Given the description of an element on the screen output the (x, y) to click on. 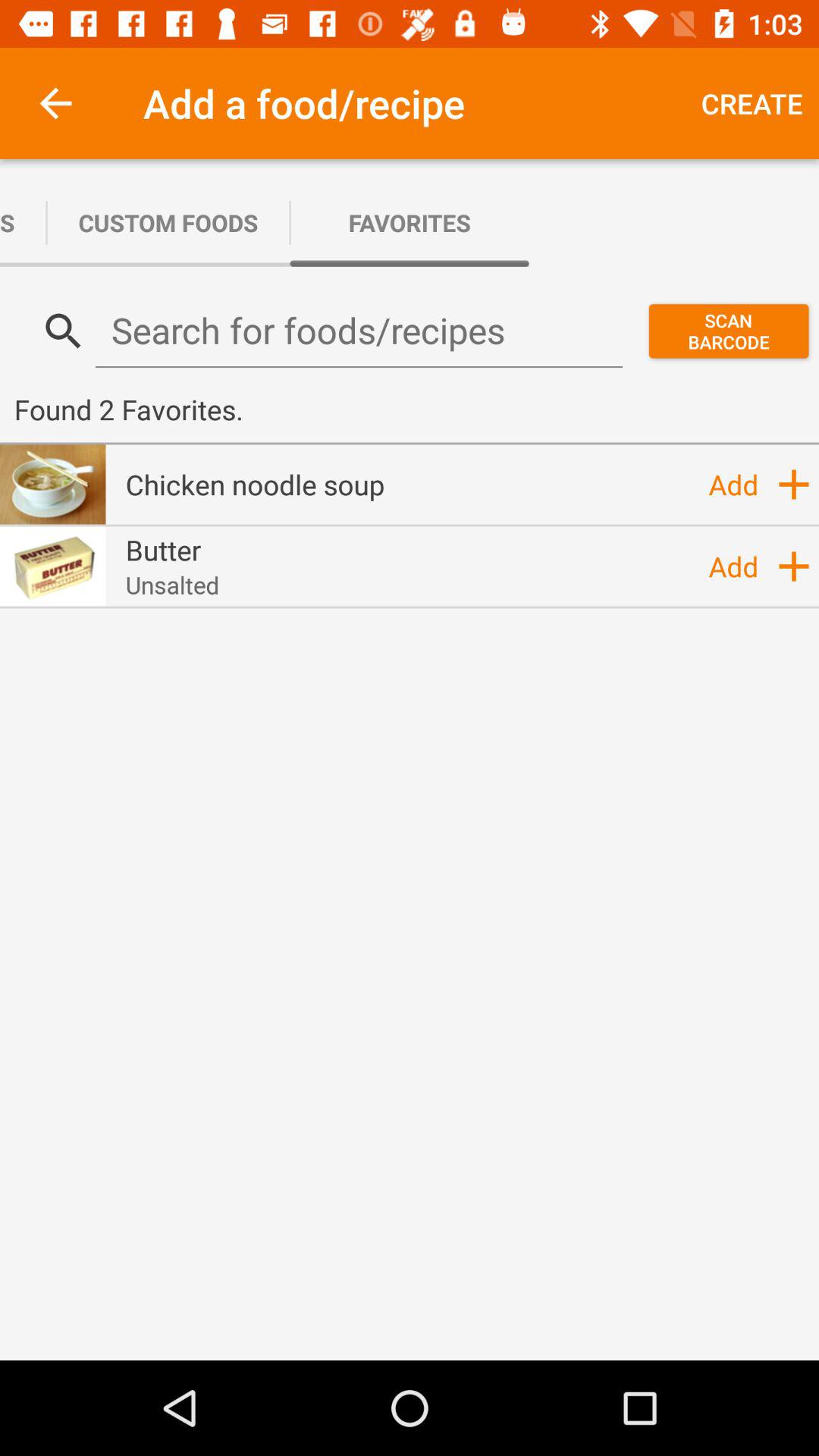
launch the butter icon (163, 549)
